Given the description of an element on the screen output the (x, y) to click on. 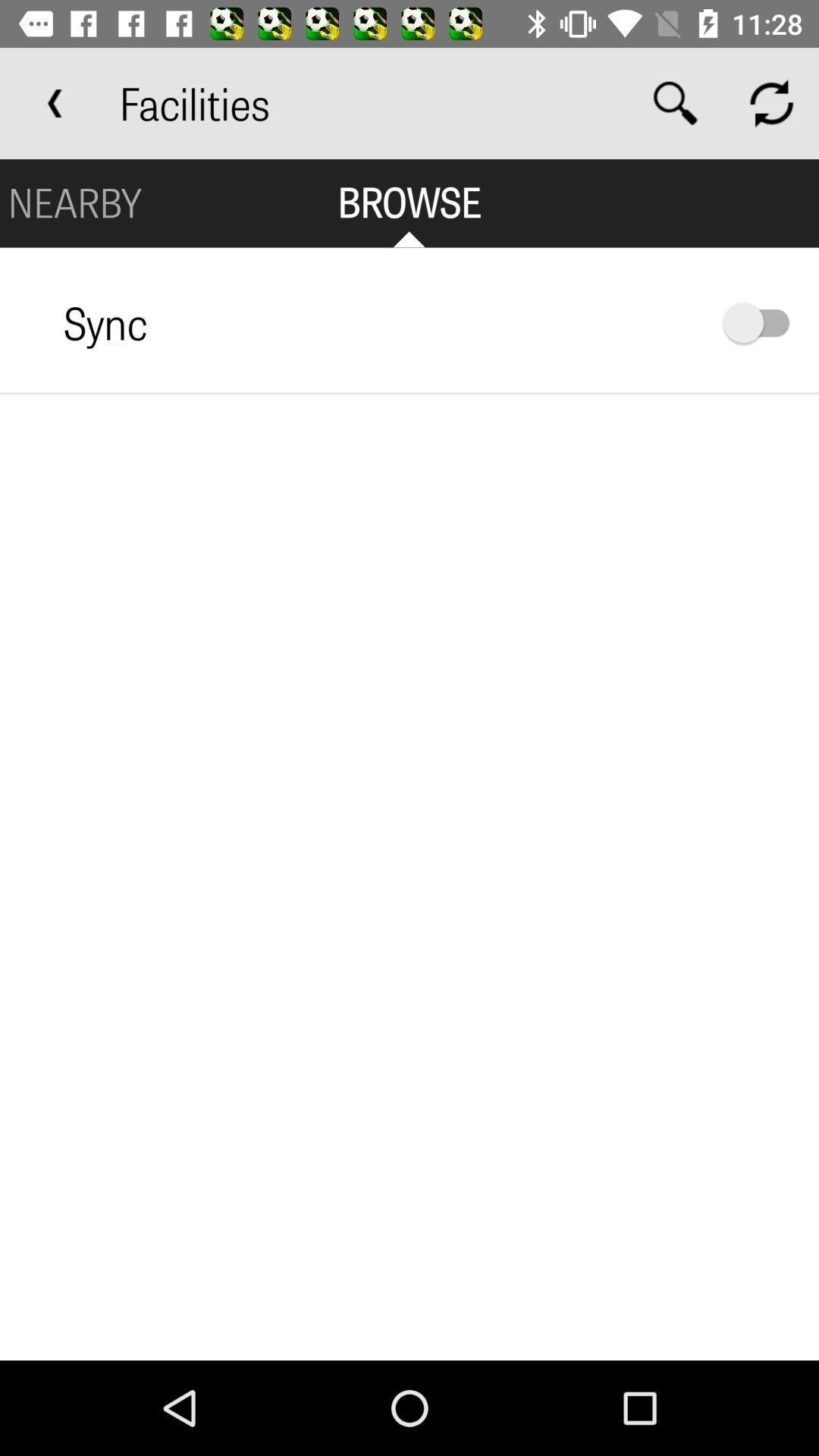
press the icon to the right of the facilities icon (675, 103)
